Given the description of an element on the screen output the (x, y) to click on. 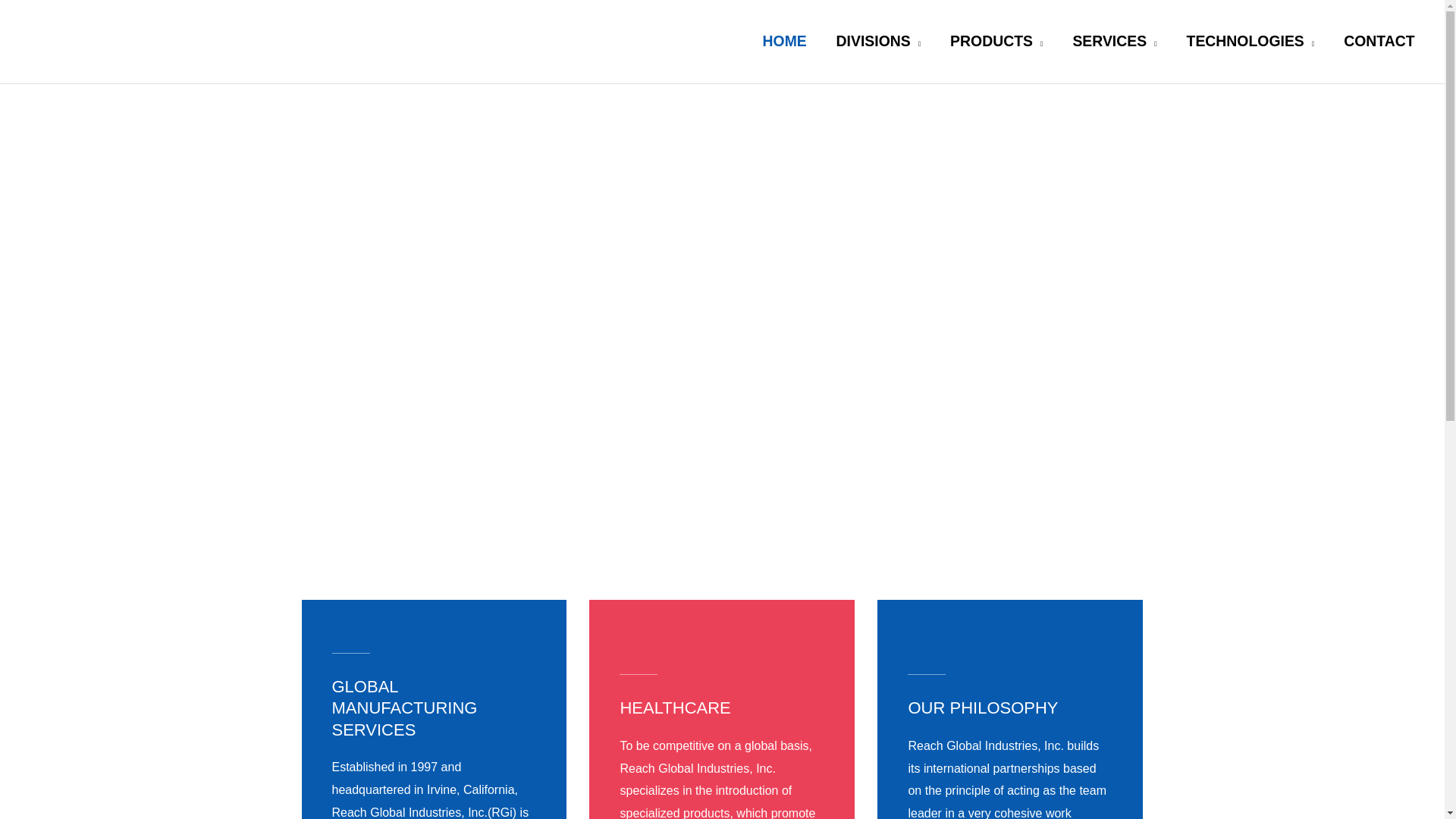
DIVISIONS (878, 41)
PRODUCTS (997, 41)
SERVICES (1115, 41)
HOME (784, 41)
CONTACT (1379, 41)
TECHNOLOGIES (1250, 41)
